Given the description of an element on the screen output the (x, y) to click on. 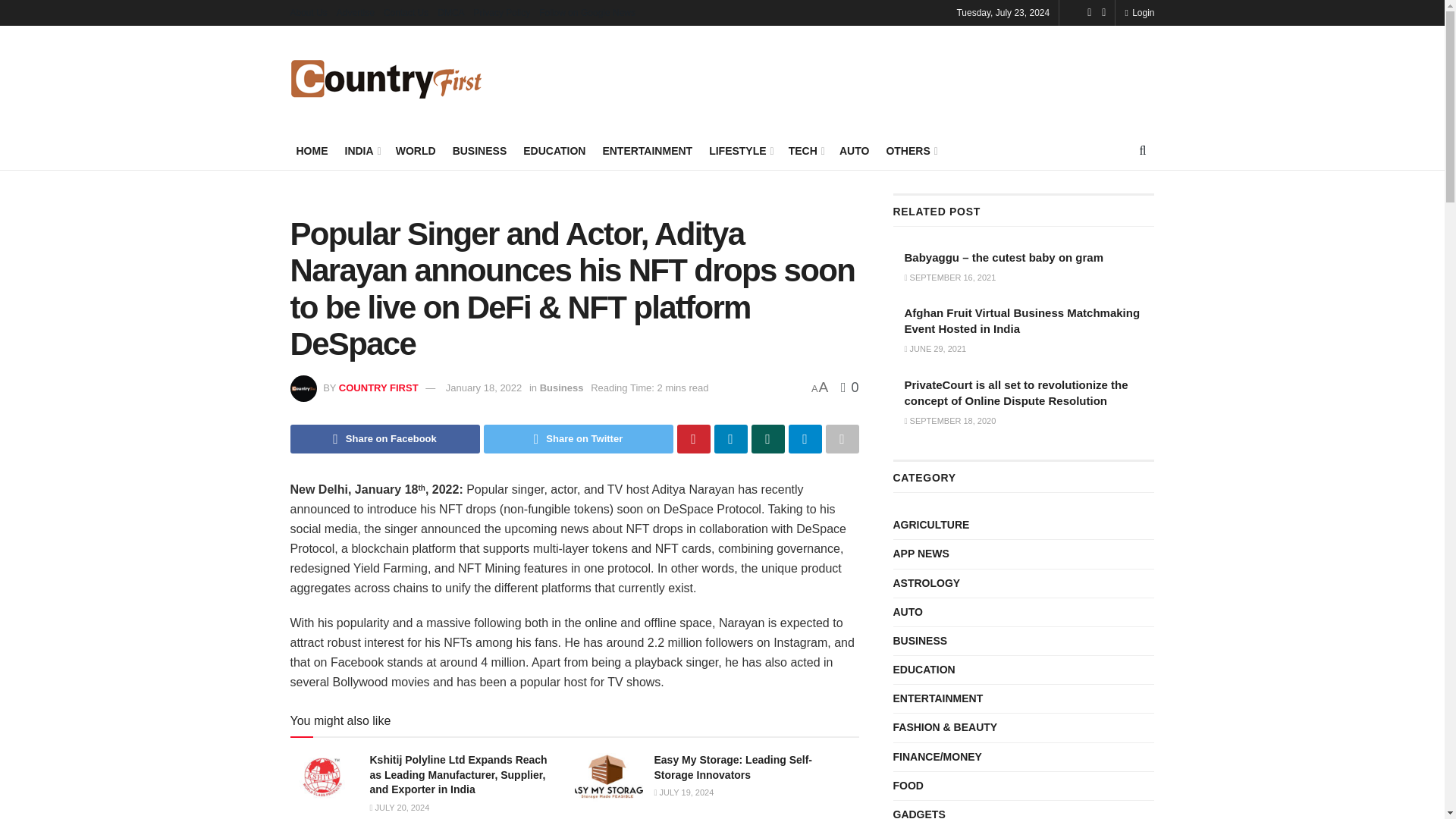
Login (1139, 12)
EDUCATION (553, 150)
OTHERS (909, 150)
Advertise (355, 12)
INDIA (360, 150)
WORLD (415, 150)
BUSINESS (479, 150)
About Us (307, 12)
Contact Us (406, 12)
LIFESTYLE (740, 150)
ENTERTAINMENT (647, 150)
DMCA (451, 12)
Follow on Google News (586, 12)
Privacy Policy (502, 12)
TECH (805, 150)
